Given the description of an element on the screen output the (x, y) to click on. 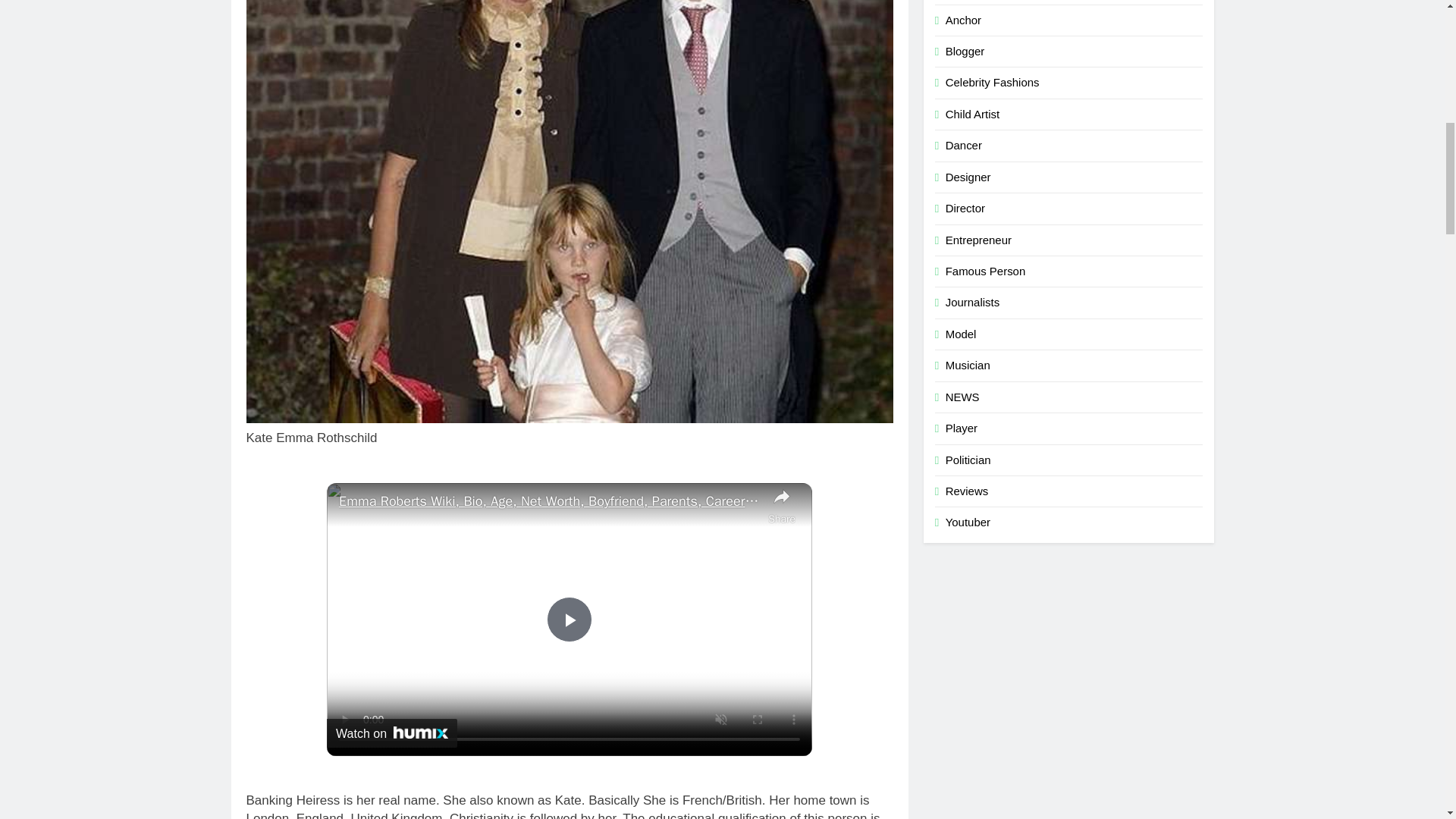
Watch on (391, 733)
Play Video (569, 619)
Play Video (569, 619)
